Given the description of an element on the screen output the (x, y) to click on. 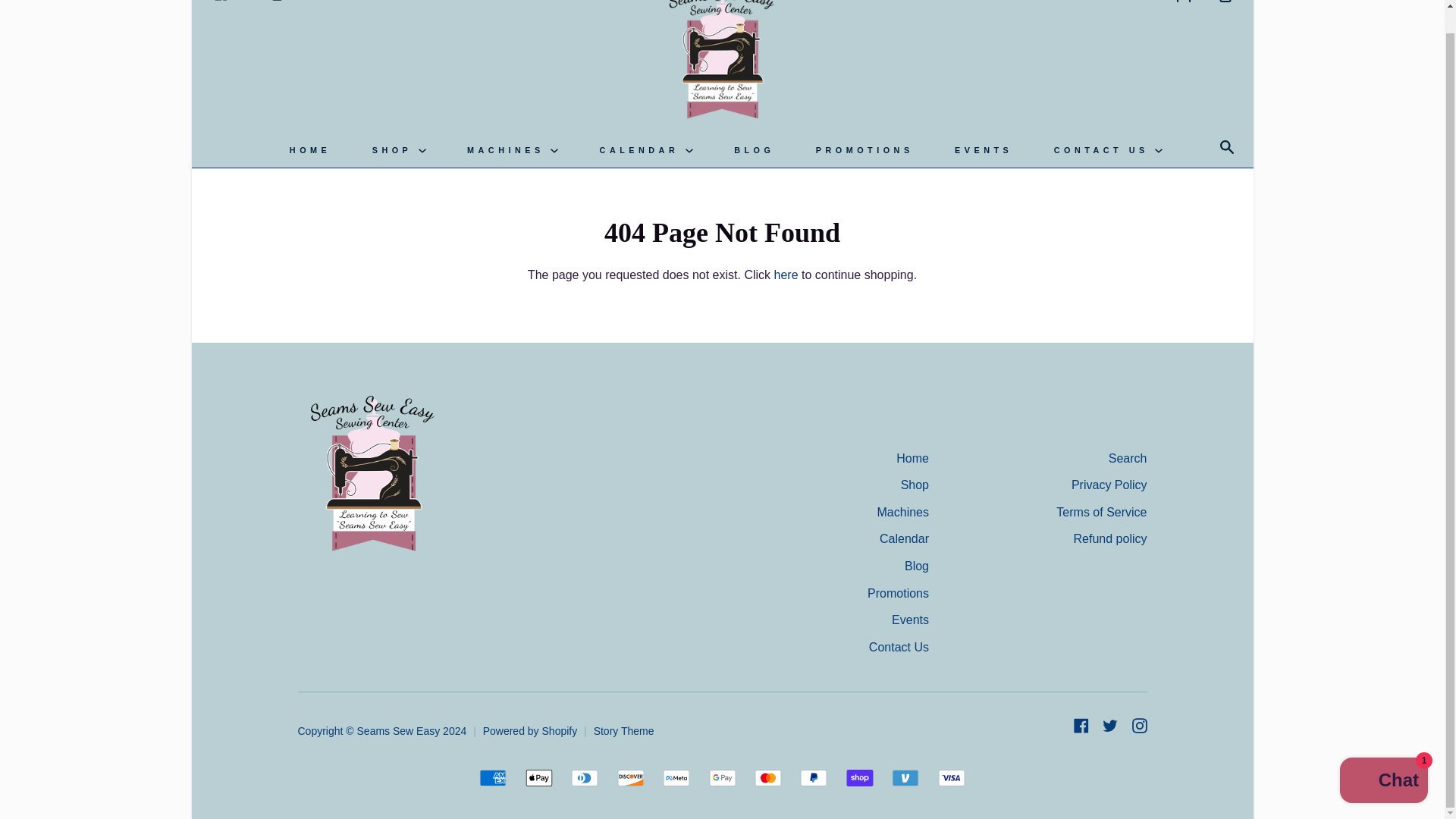
Shop Pay (859, 777)
MACHINES (512, 150)
Apple Pay (539, 777)
Discover (630, 777)
Venmo (904, 777)
Mastercard (767, 777)
PayPal (812, 777)
SHOP (398, 150)
Visa (951, 777)
HOME (309, 150)
Google Pay (721, 777)
Meta Pay (676, 777)
American Express (492, 777)
Diners Club (584, 777)
